Given the description of an element on the screen output the (x, y) to click on. 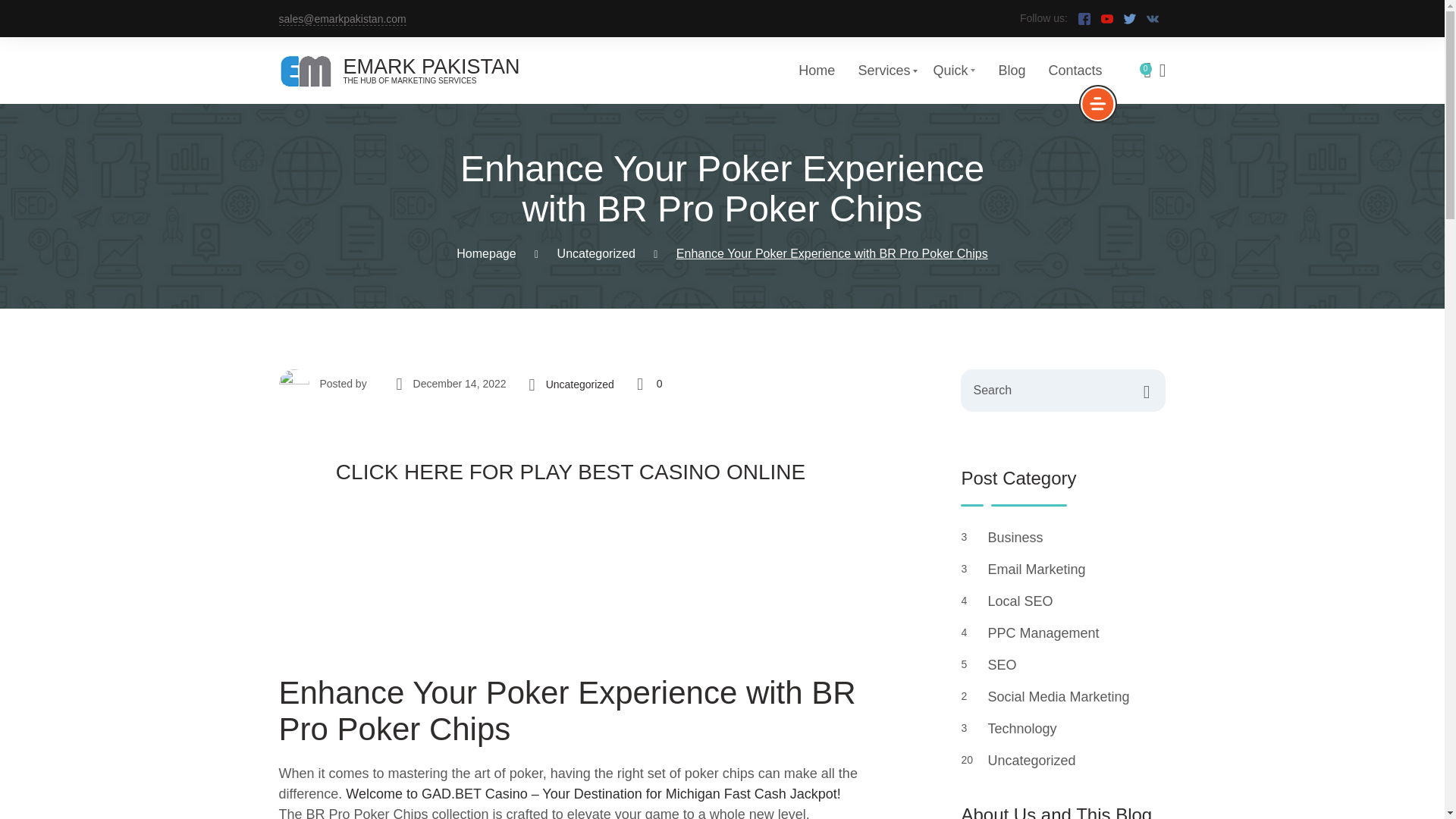
Services (883, 69)
Home (815, 69)
Contacts (1075, 69)
Blog (1011, 69)
Quick (954, 69)
